Given the description of an element on the screen output the (x, y) to click on. 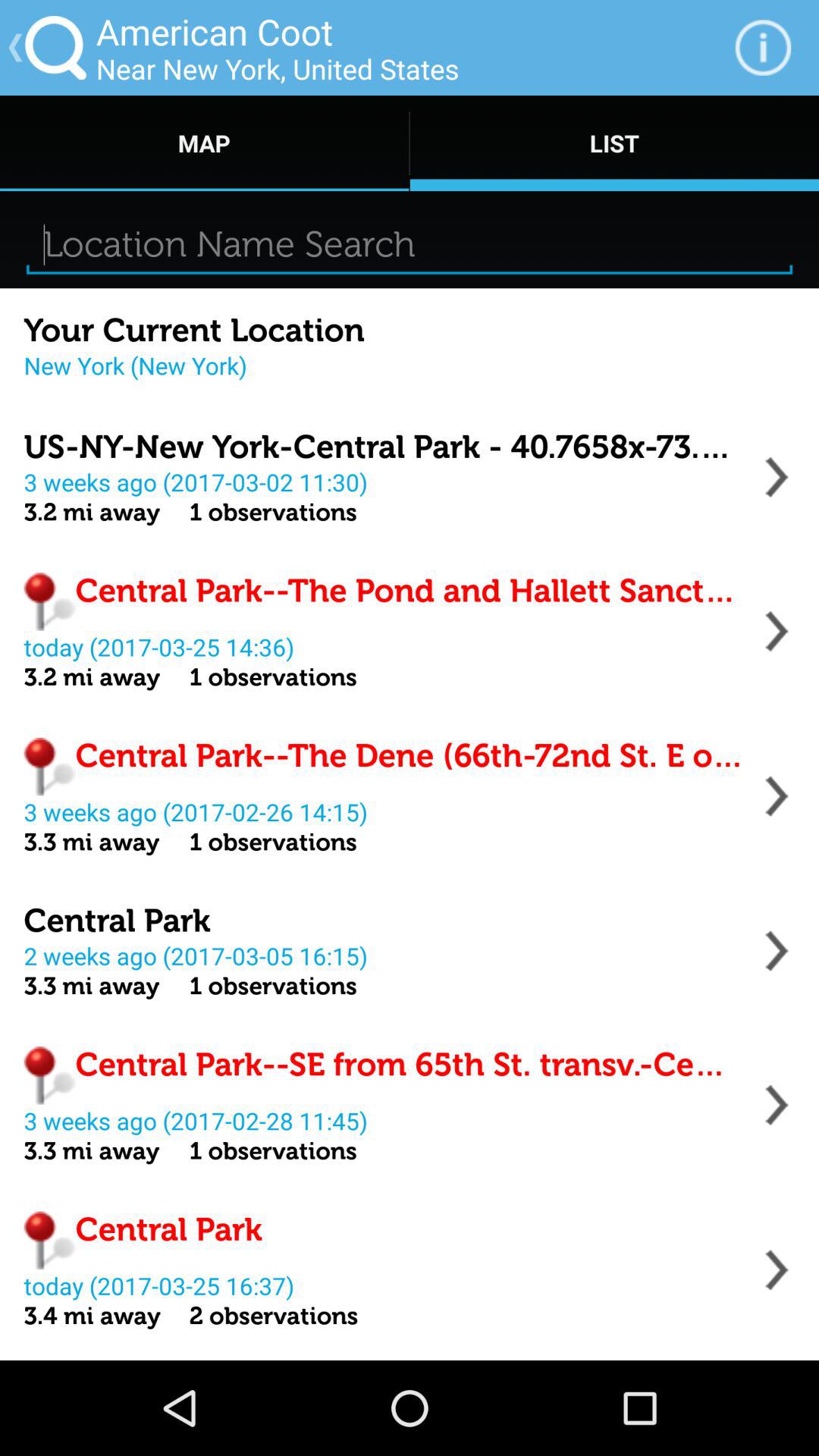
select option (776, 1269)
